Given the description of an element on the screen output the (x, y) to click on. 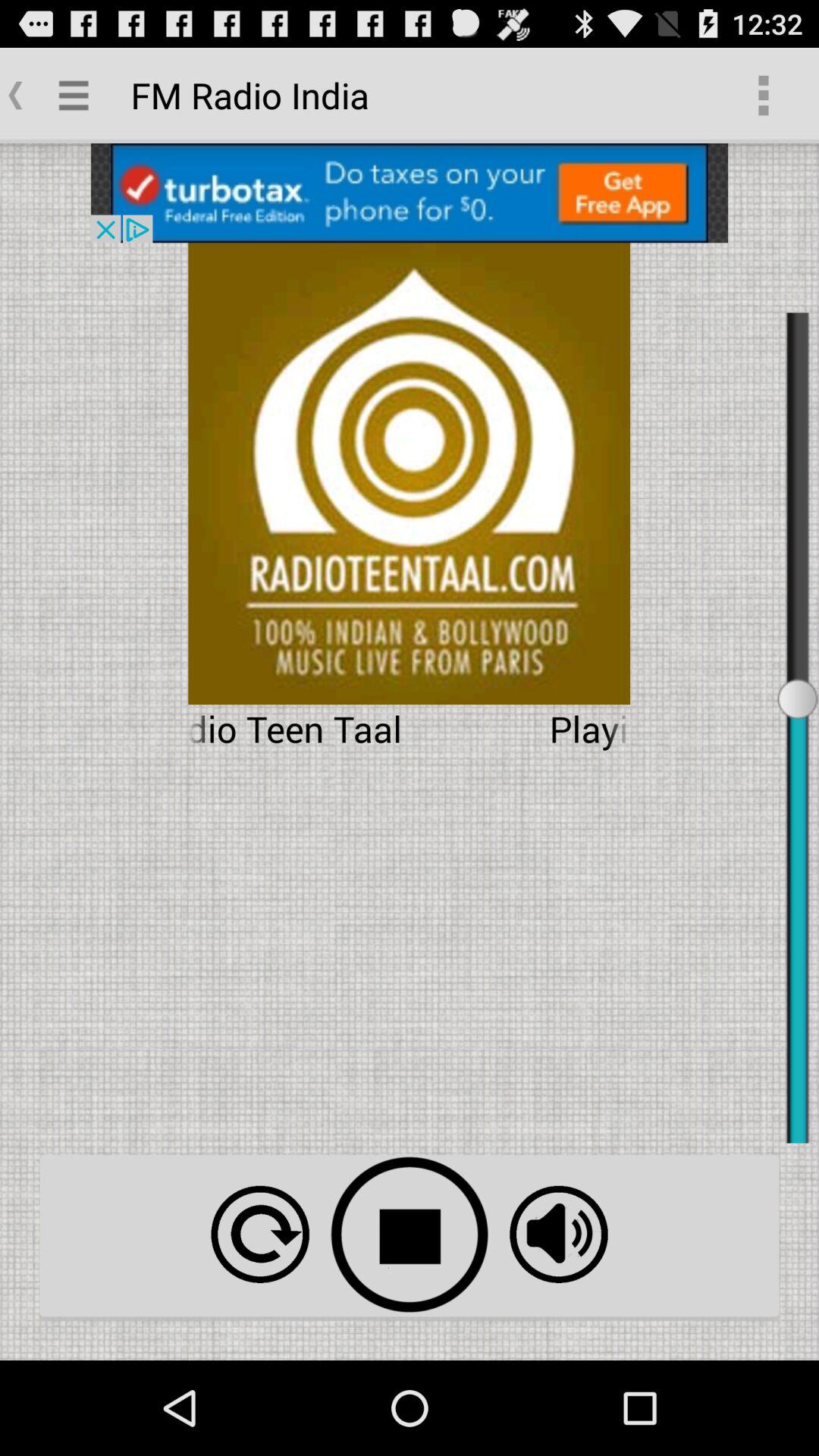
stop (409, 1234)
